Given the description of an element on the screen output the (x, y) to click on. 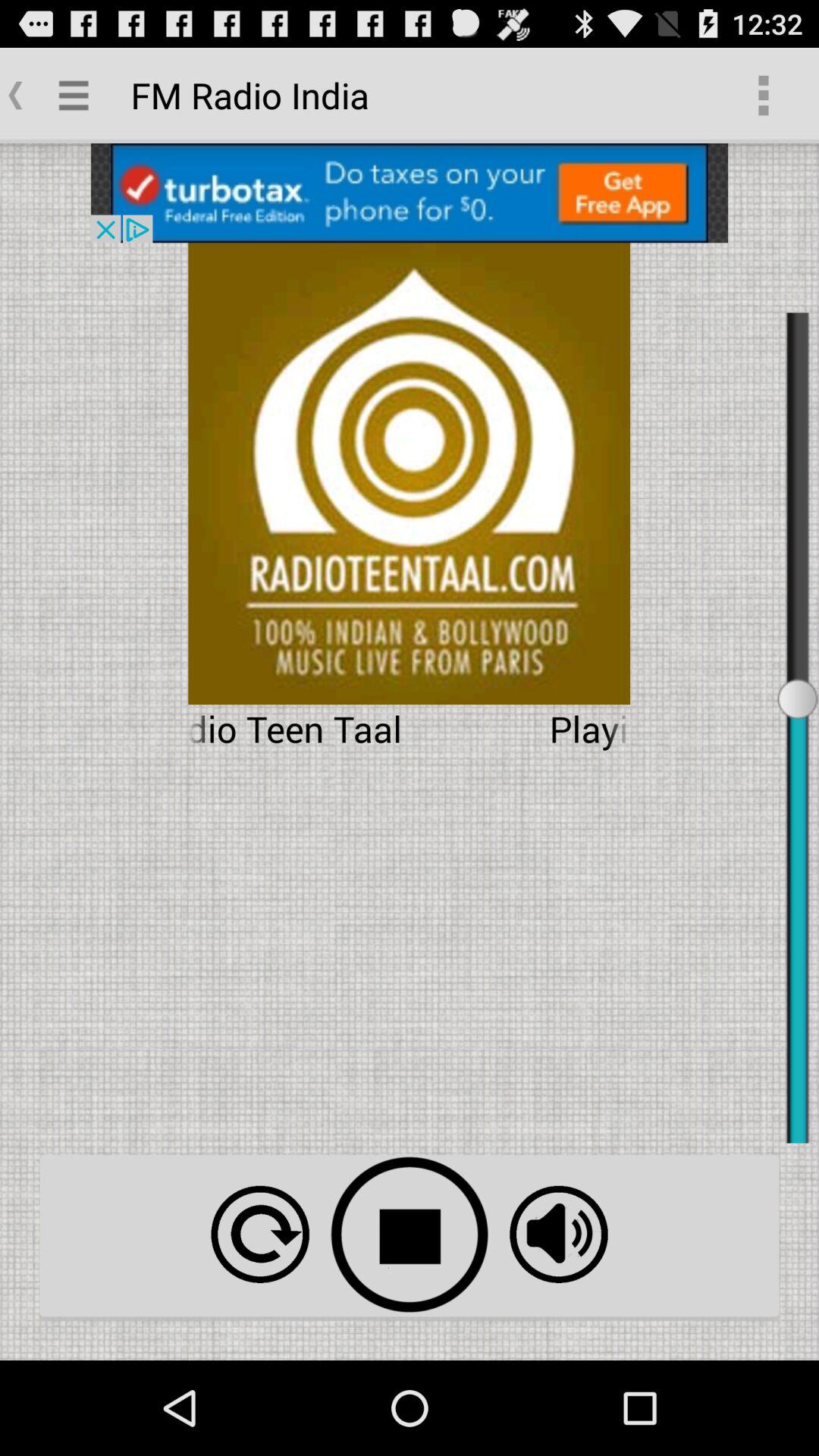
stop (409, 1234)
